Given the description of an element on the screen output the (x, y) to click on. 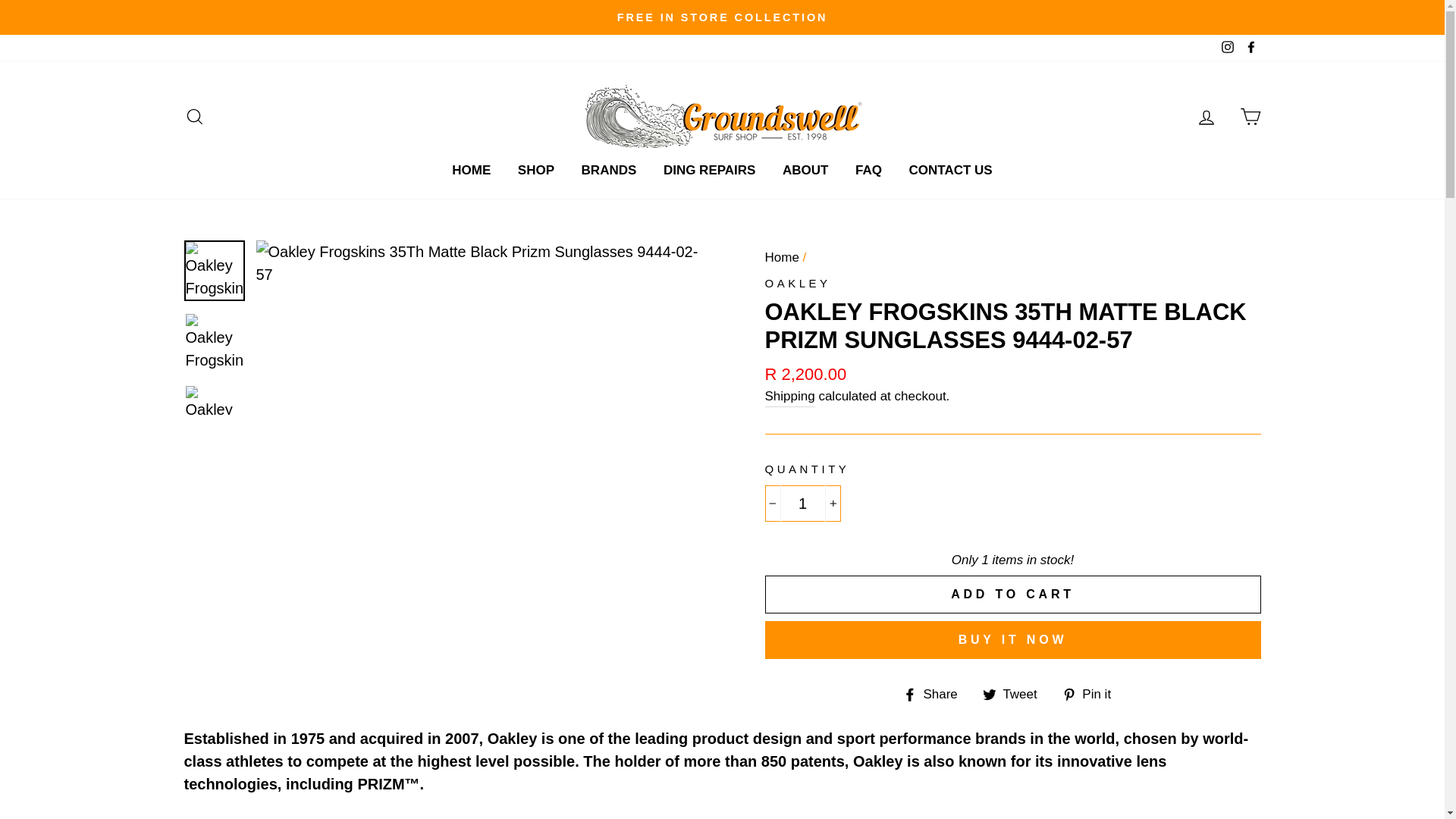
Tweet on Twitter (1015, 692)
1 (802, 503)
Share on Facebook (935, 692)
Back to the frontpage (780, 257)
Pin on Pinterest (1092, 692)
